Given the description of an element on the screen output the (x, y) to click on. 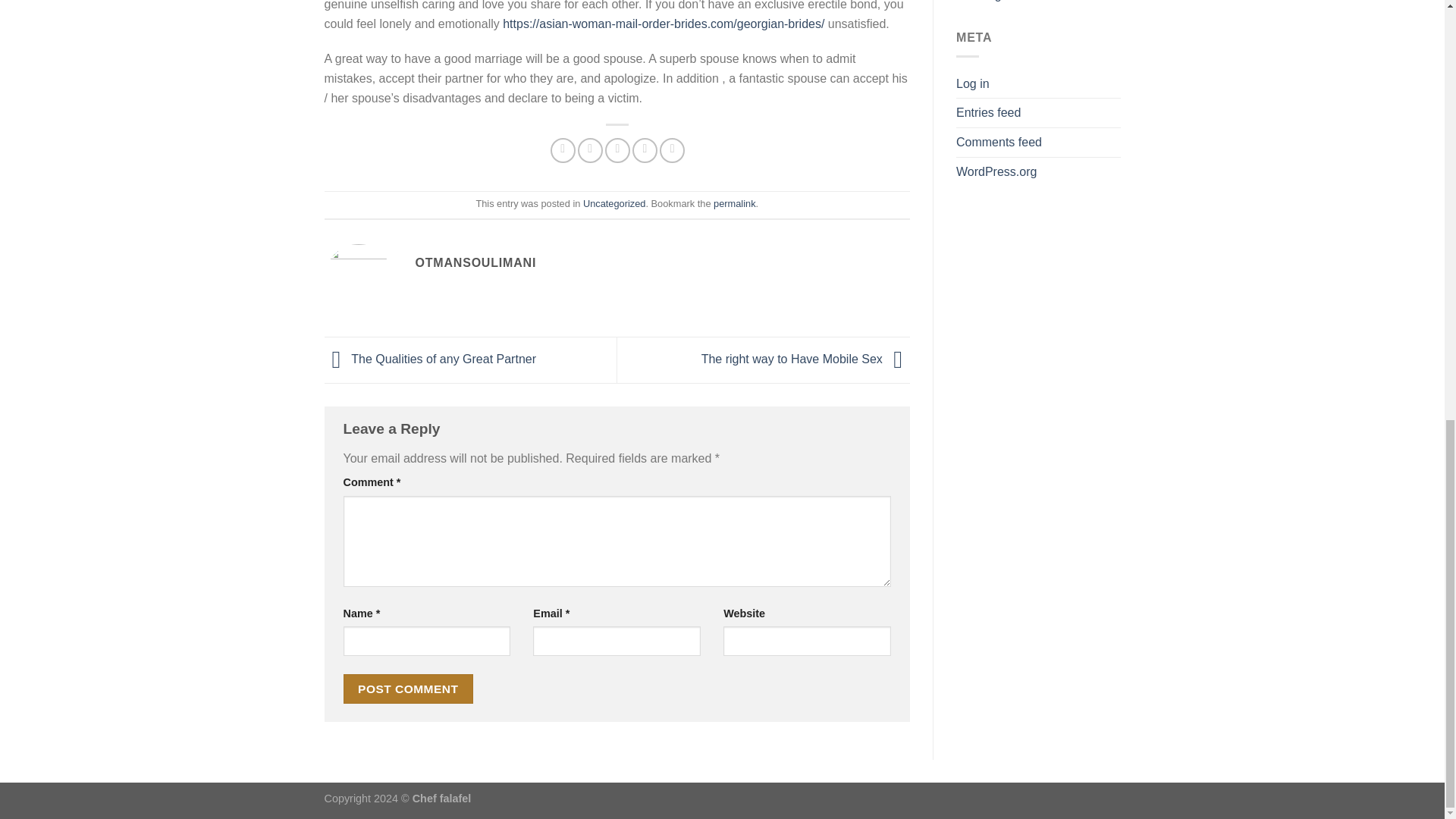
Post Comment (407, 688)
The right way to Have Mobile Sex (805, 358)
Uncategorized (614, 203)
Permalink to How you can Have the best Marriage (734, 203)
Share on Twitter (590, 150)
The Qualities of any Great Partner (430, 358)
Pin on Pinterest (644, 150)
Email to a Friend (617, 150)
Post Comment (407, 688)
Share on Facebook (562, 150)
permalink (734, 203)
Share on LinkedIn (671, 150)
